Given the description of an element on the screen output the (x, y) to click on. 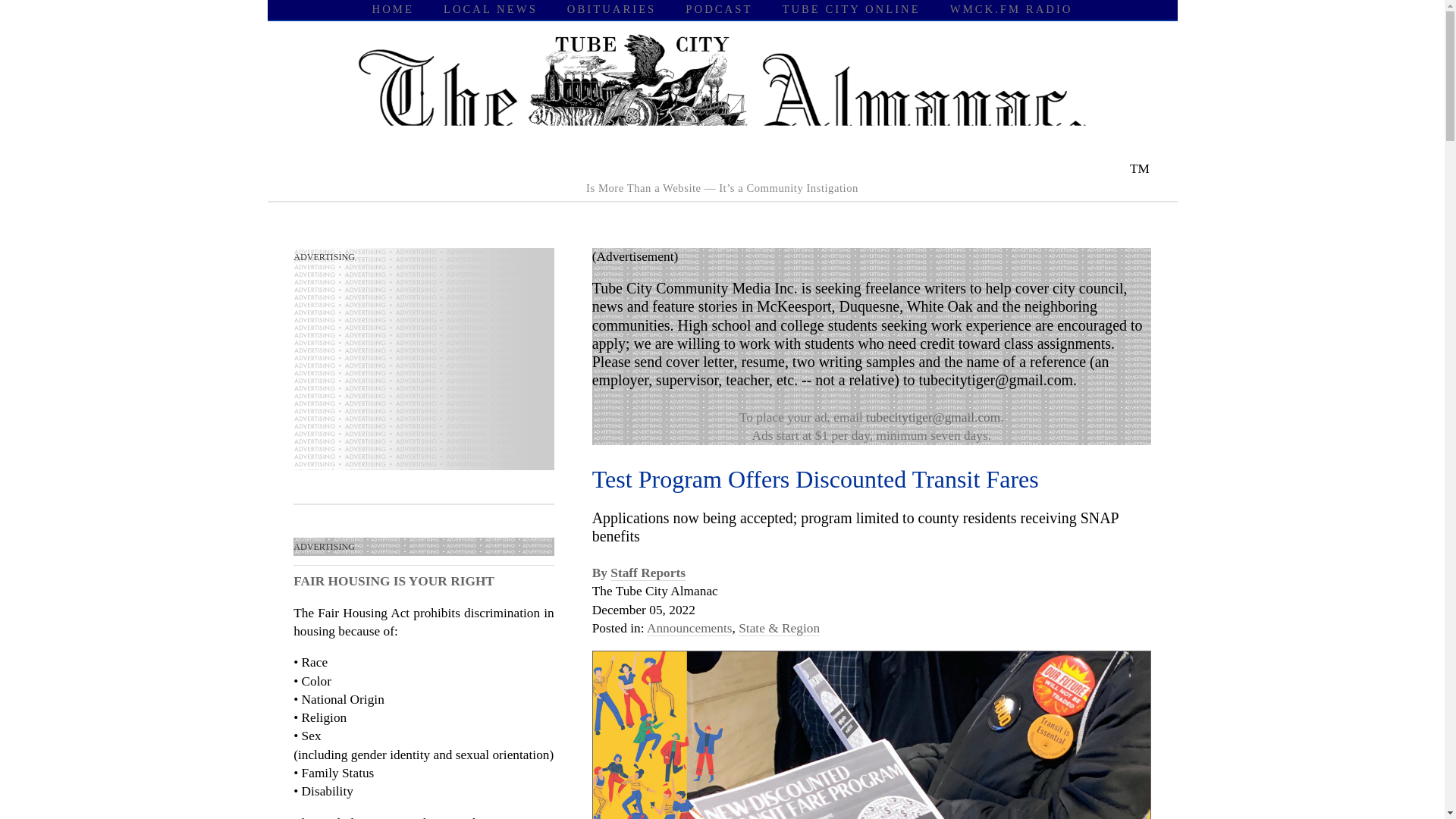
PODCAST (718, 9)
TUBE CITY ONLINE (850, 9)
HOME (392, 9)
TM (722, 168)
OBITUARIES (611, 9)
LOCAL NEWS (490, 9)
WMCK.FM RADIO (1011, 9)
Advertisement (407, 370)
